Given the description of an element on the screen output the (x, y) to click on. 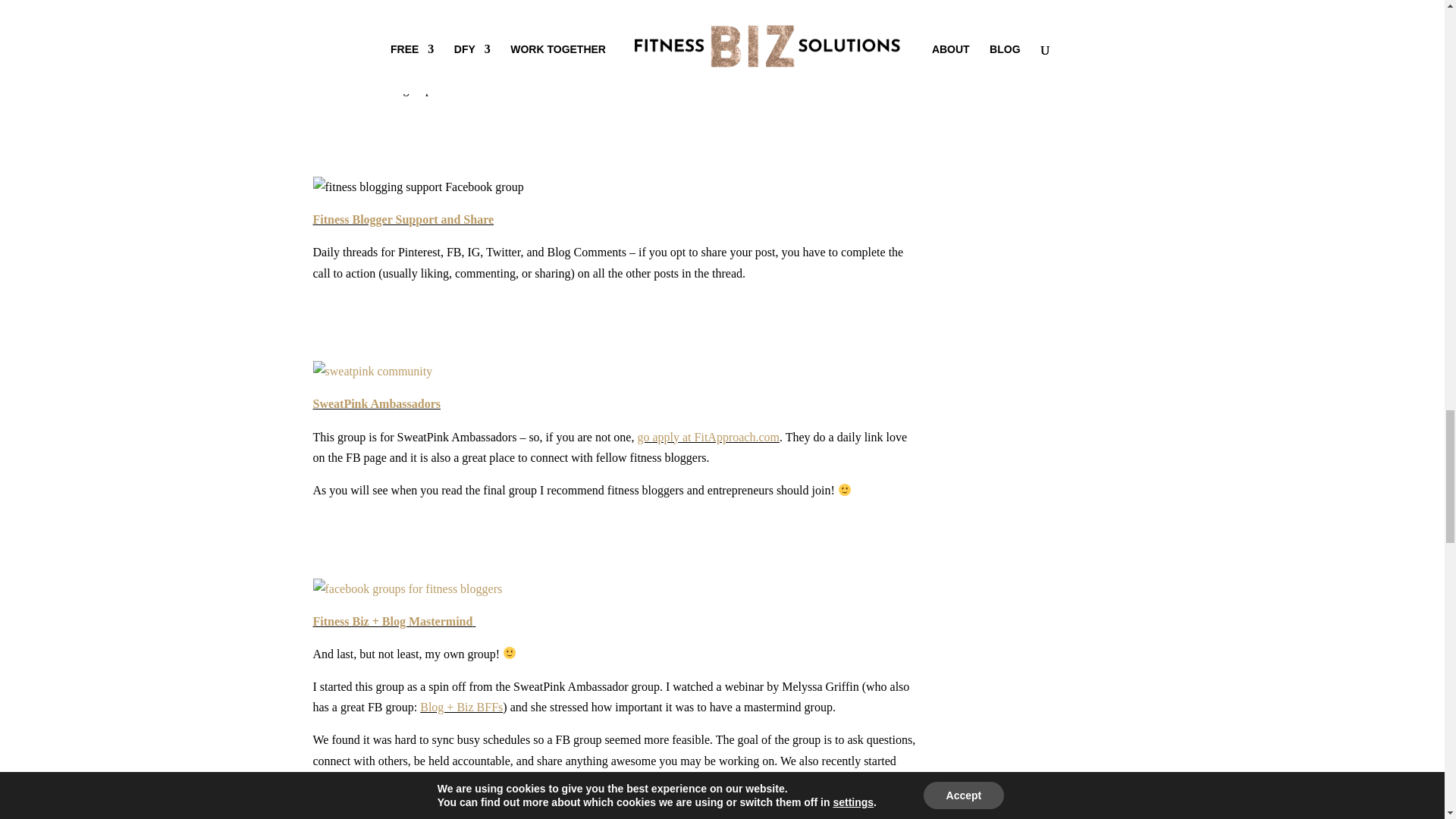
SweatPink Ambassadors (376, 403)
Online Trainers Unite (369, 14)
Expert Advice post (806, 67)
Fitness Blogger Support and Share (403, 219)
